Given the description of an element on the screen output the (x, y) to click on. 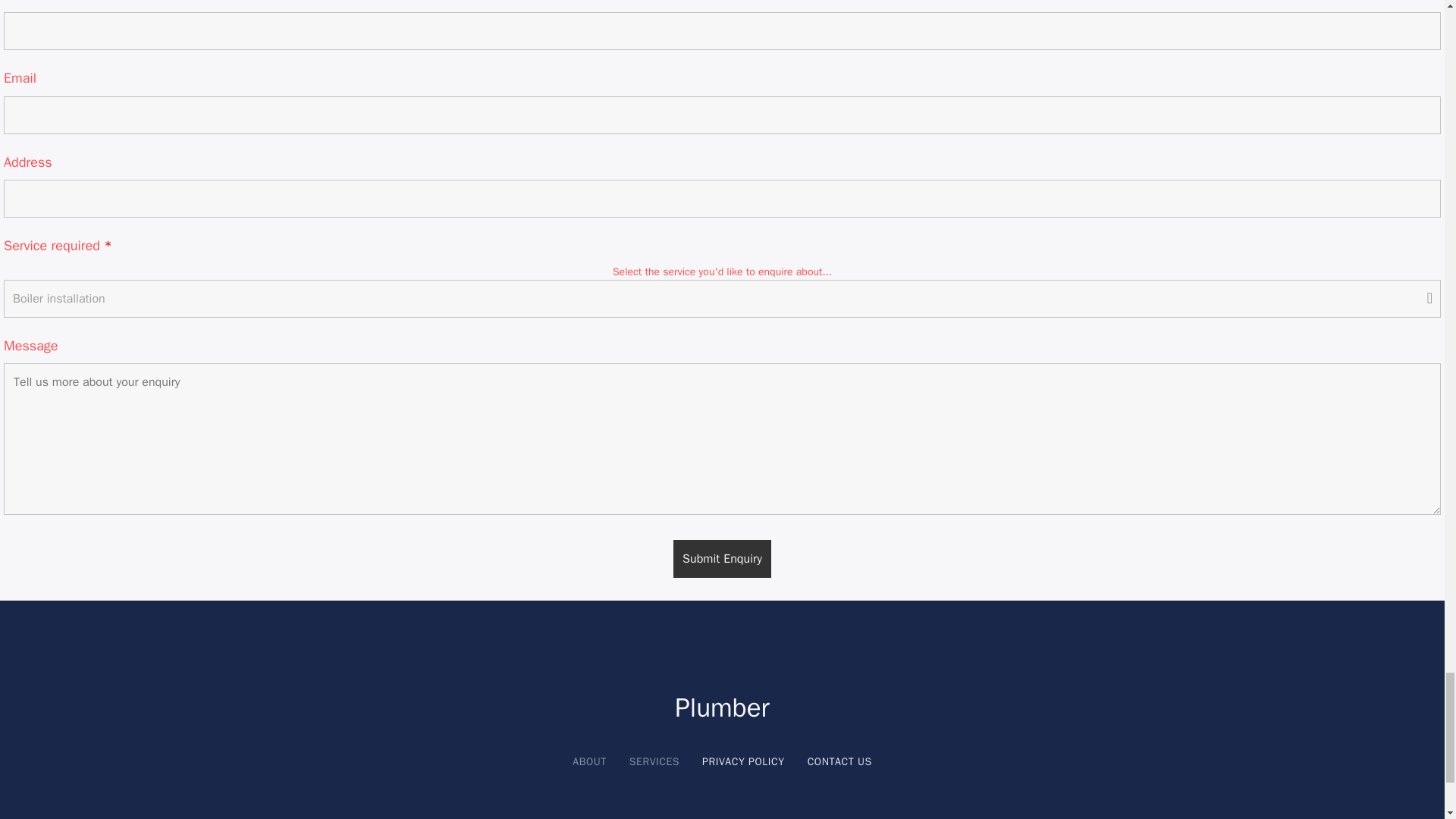
Submit Enquiry (721, 558)
